Given the description of an element on the screen output the (x, y) to click on. 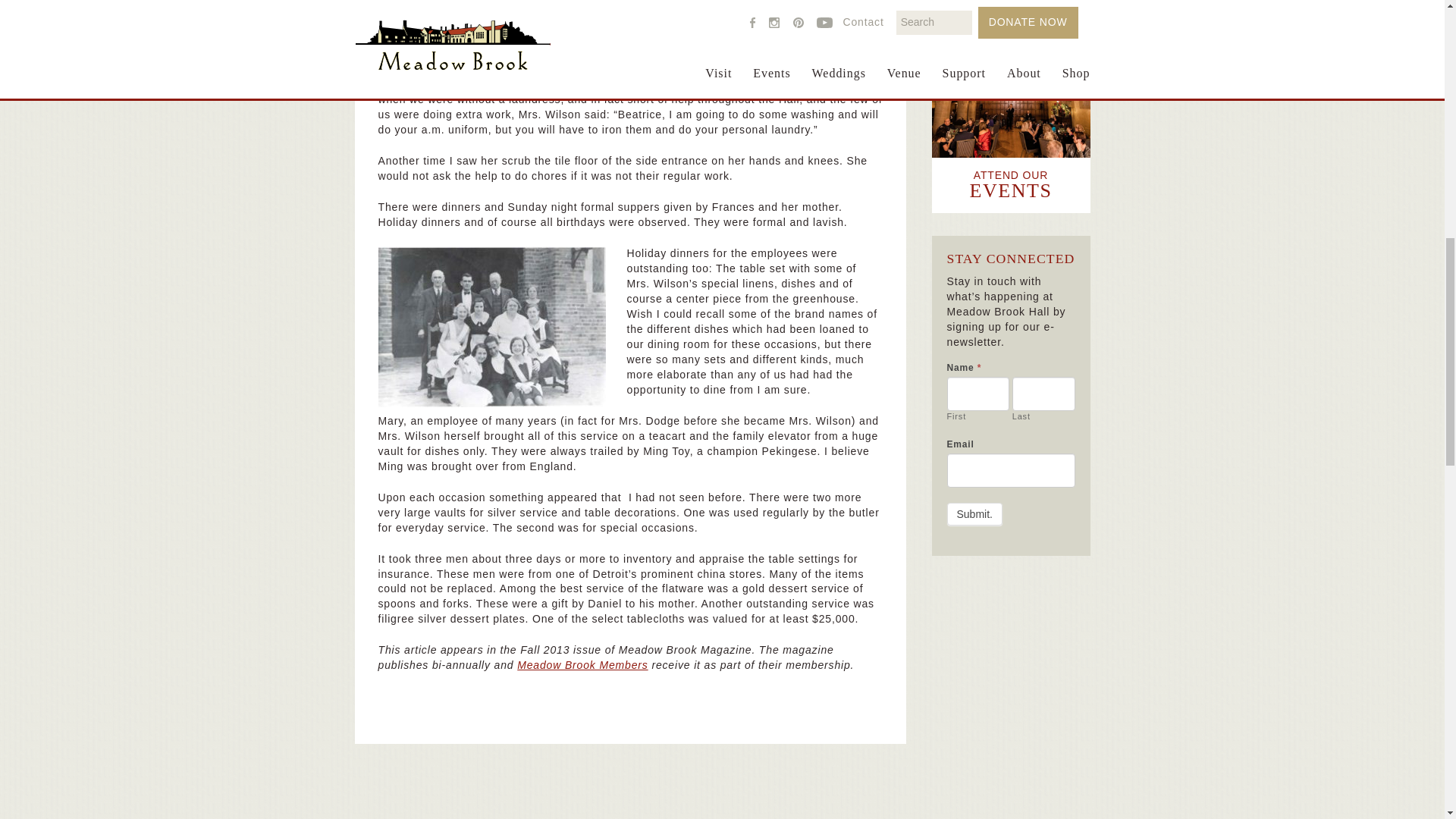
FareHarbor (1342, 64)
